Given the description of an element on the screen output the (x, y) to click on. 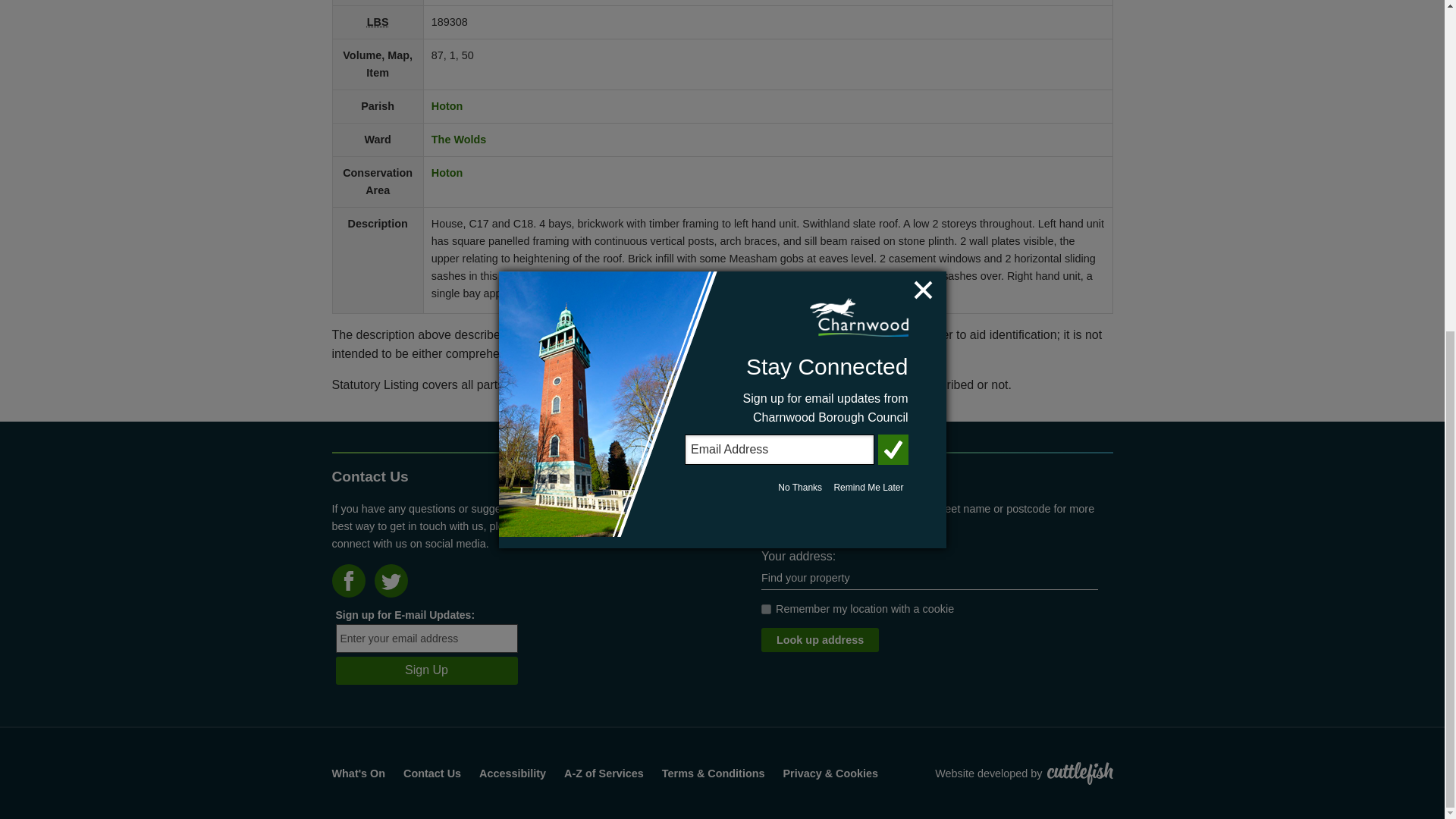
Sign Up (425, 670)
Listed Building System (377, 21)
1 (766, 609)
The Wolds (458, 139)
Hoton (446, 105)
1 (766, 609)
Hoton (446, 173)
